Given the description of an element on the screen output the (x, y) to click on. 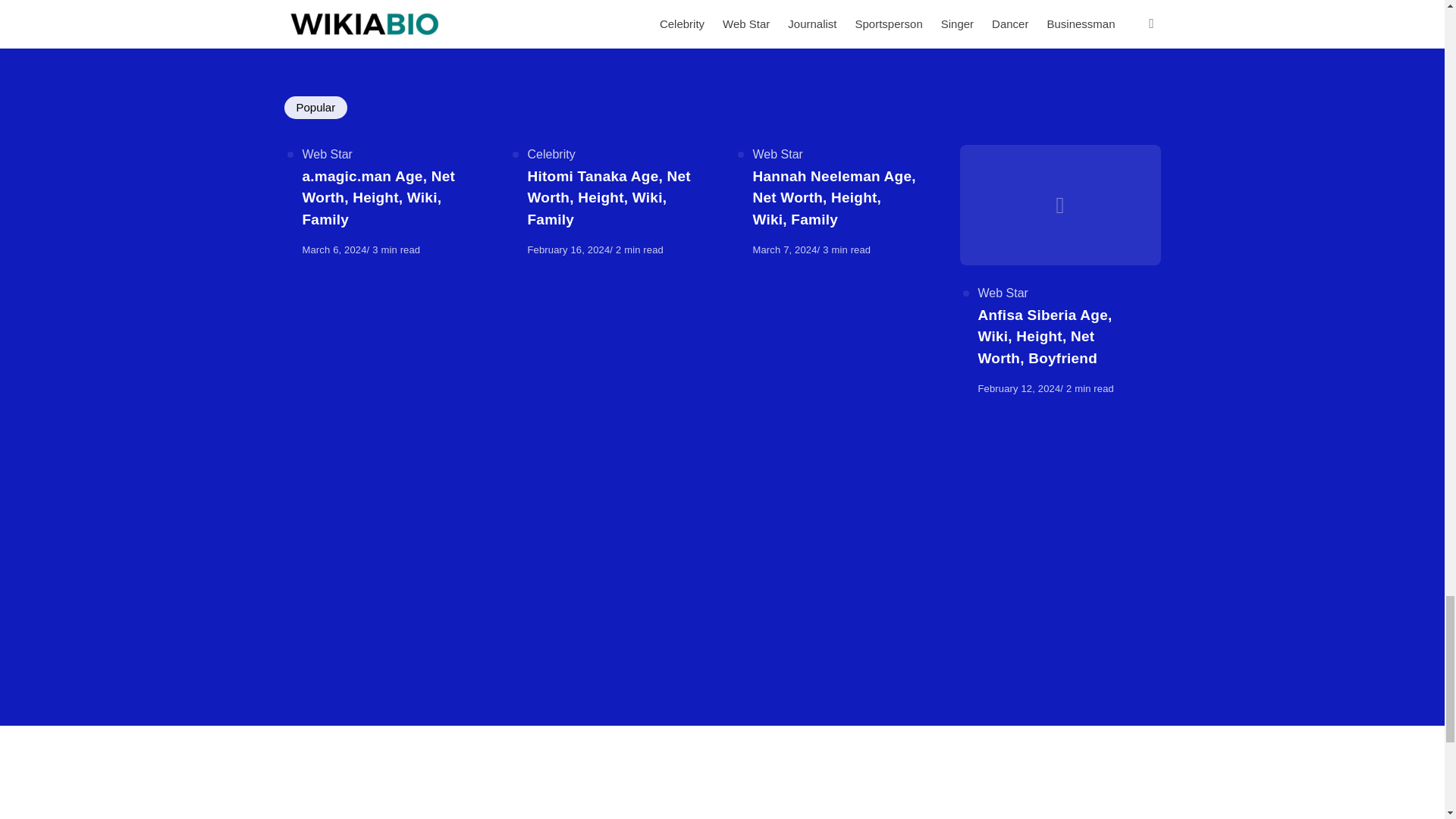
February 16, 2024 (568, 249)
February 12, 2024 (1019, 388)
March 7, 2024 (784, 249)
March 6, 2024 (333, 249)
